Given the description of an element on the screen output the (x, y) to click on. 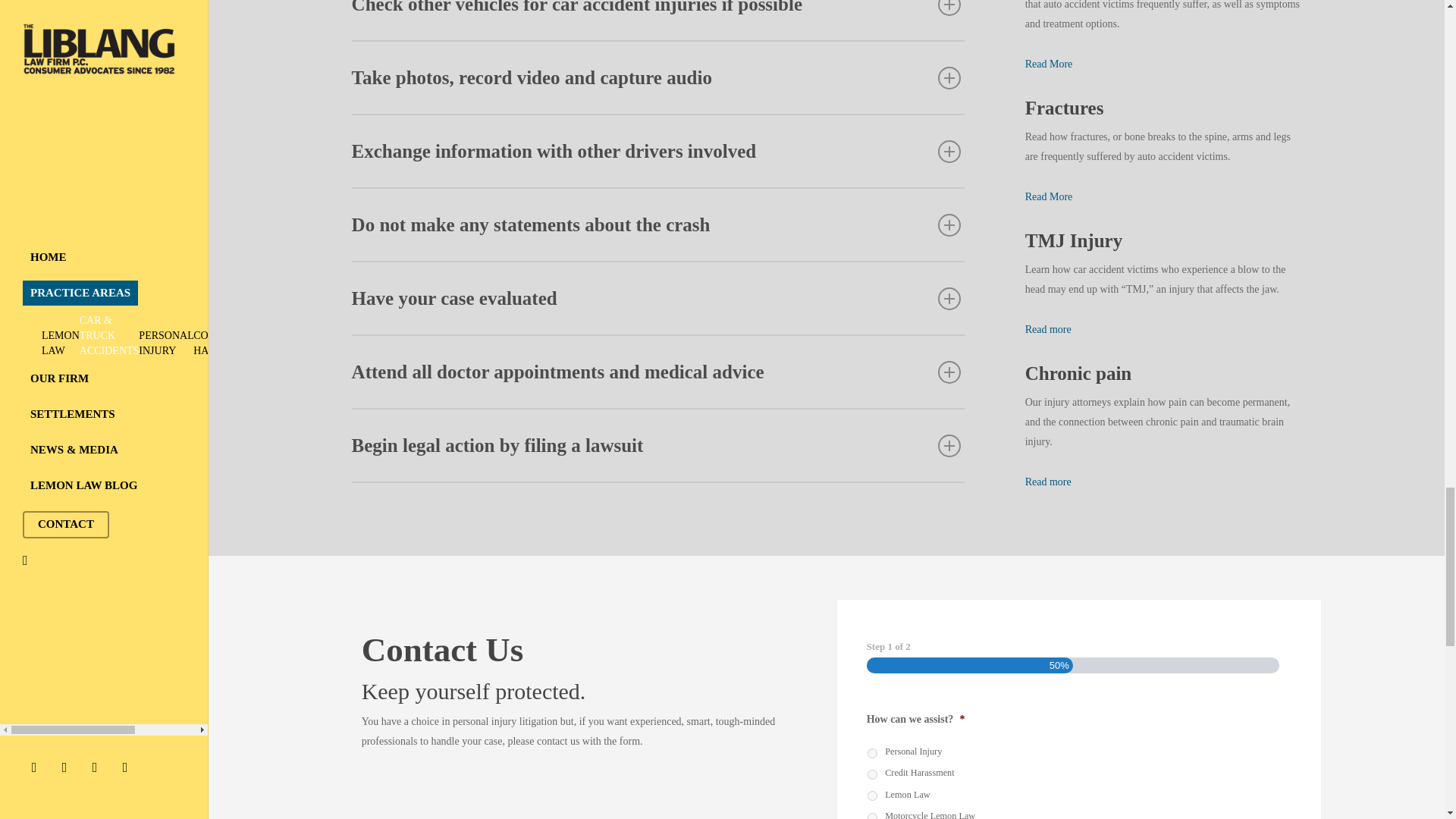
Credit Harassment (872, 774)
Lemon Law (872, 795)
Personal Injury (872, 753)
Motorcycle Lemon Law (872, 816)
